Given the description of an element on the screen output the (x, y) to click on. 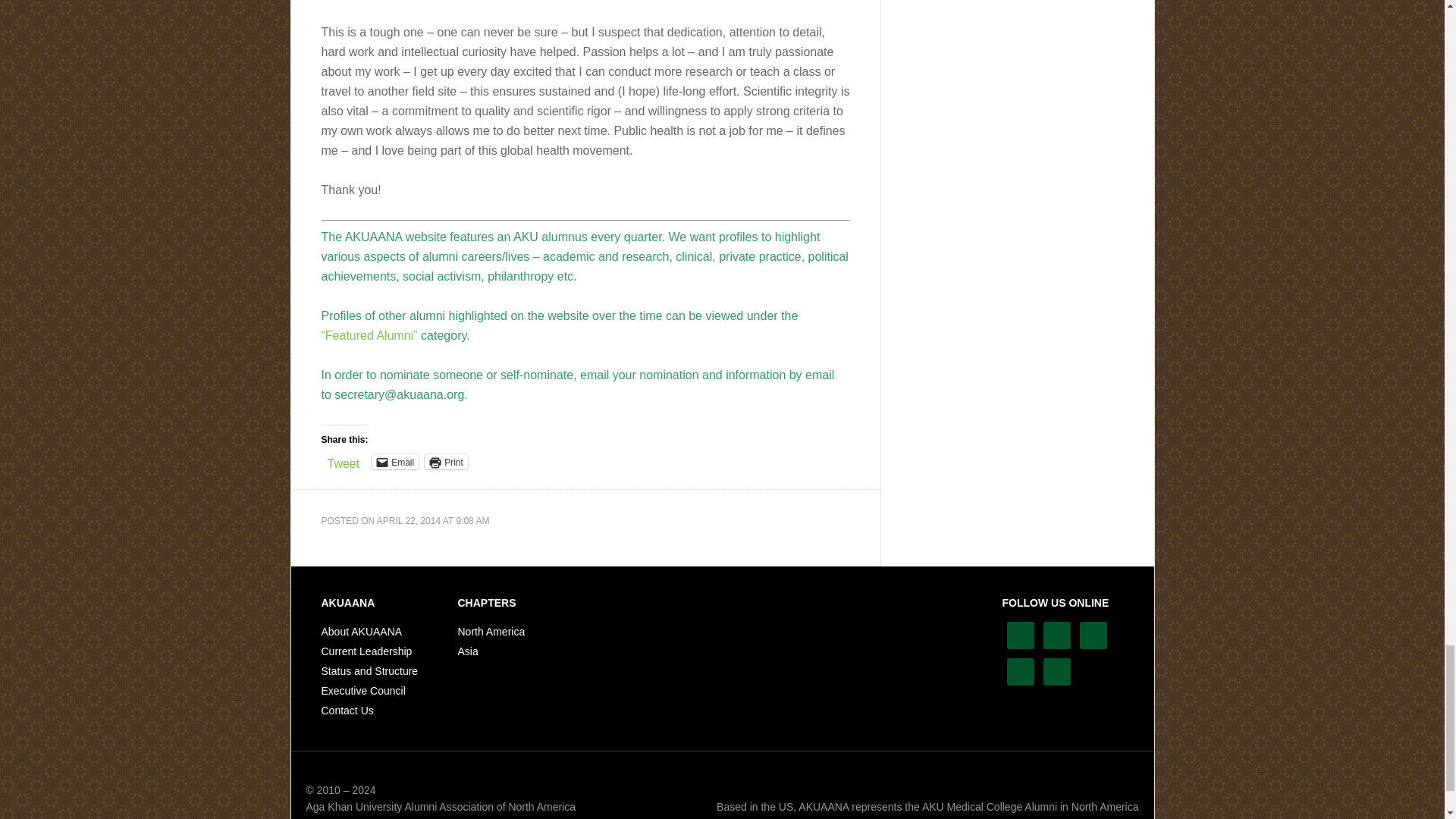
About AKUAANA (362, 631)
Click to email a link to a friend (395, 461)
North America (491, 631)
Executive Council (363, 690)
Click to print (446, 461)
Contact Us (347, 710)
Status and Structure (370, 671)
Current Leadership (366, 651)
